Given the description of an element on the screen output the (x, y) to click on. 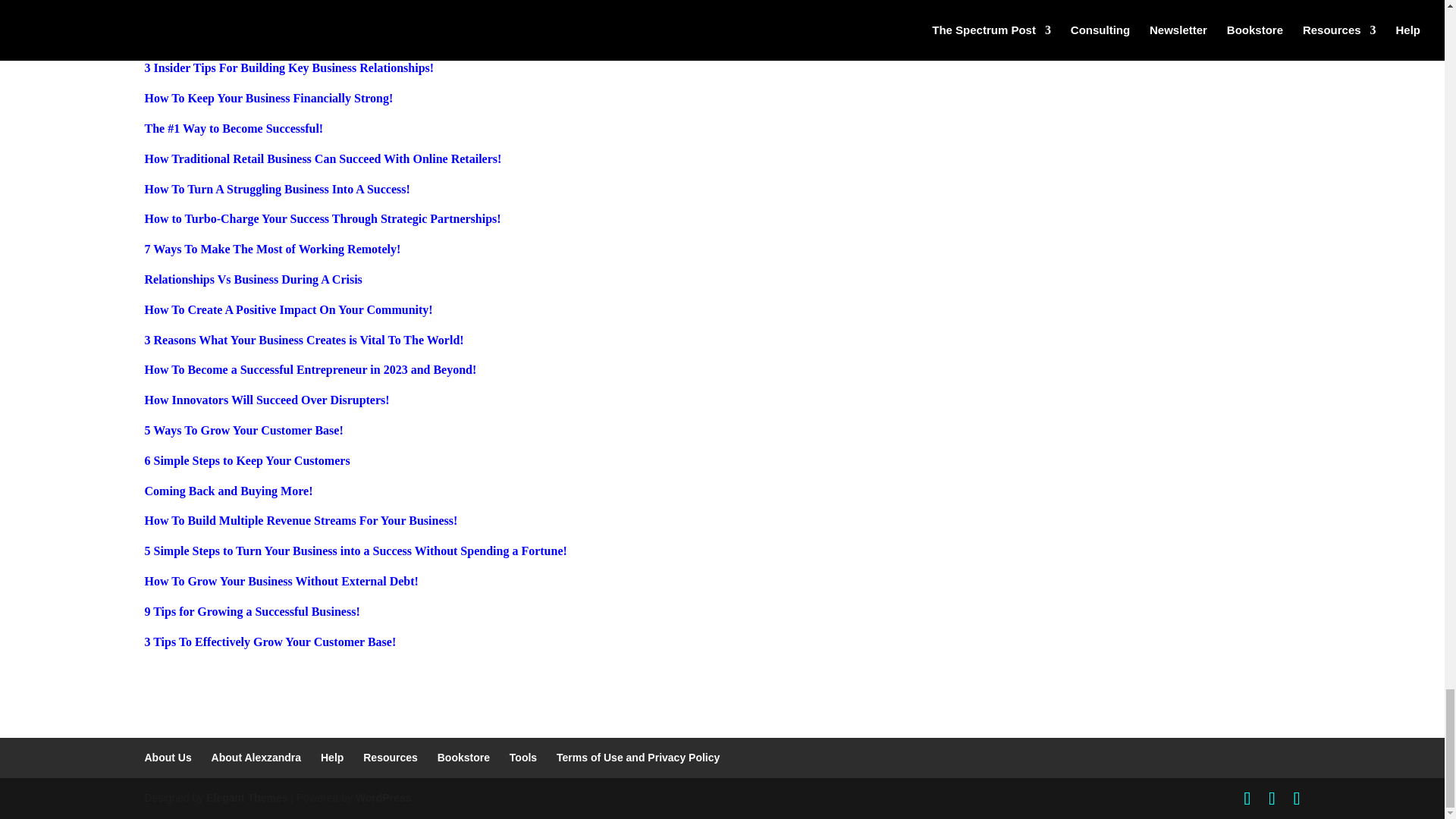
Premium WordPress Themes (246, 797)
